Given the description of an element on the screen output the (x, y) to click on. 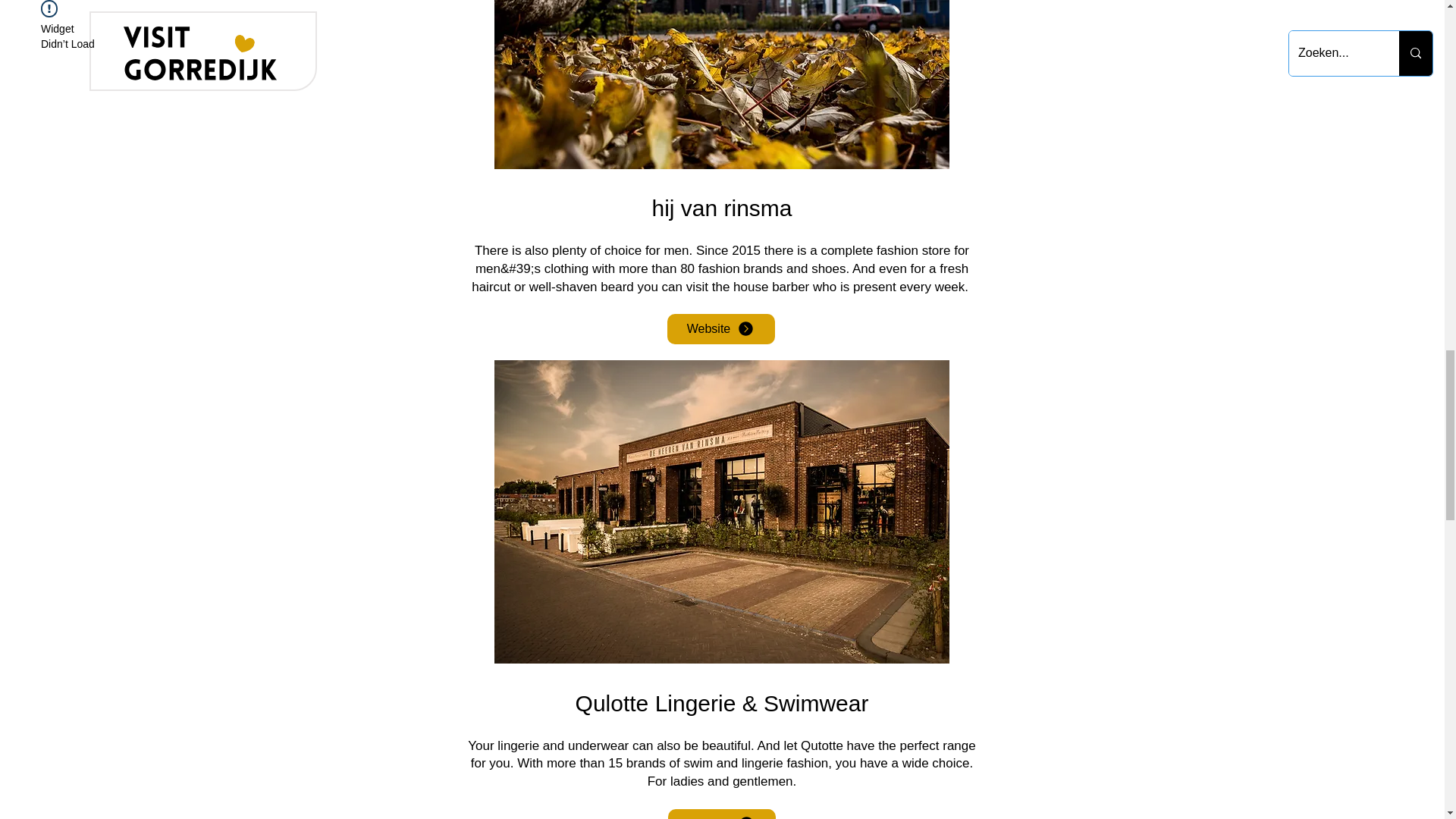
Website (720, 814)
Website (720, 328)
